Given the description of an element on the screen output the (x, y) to click on. 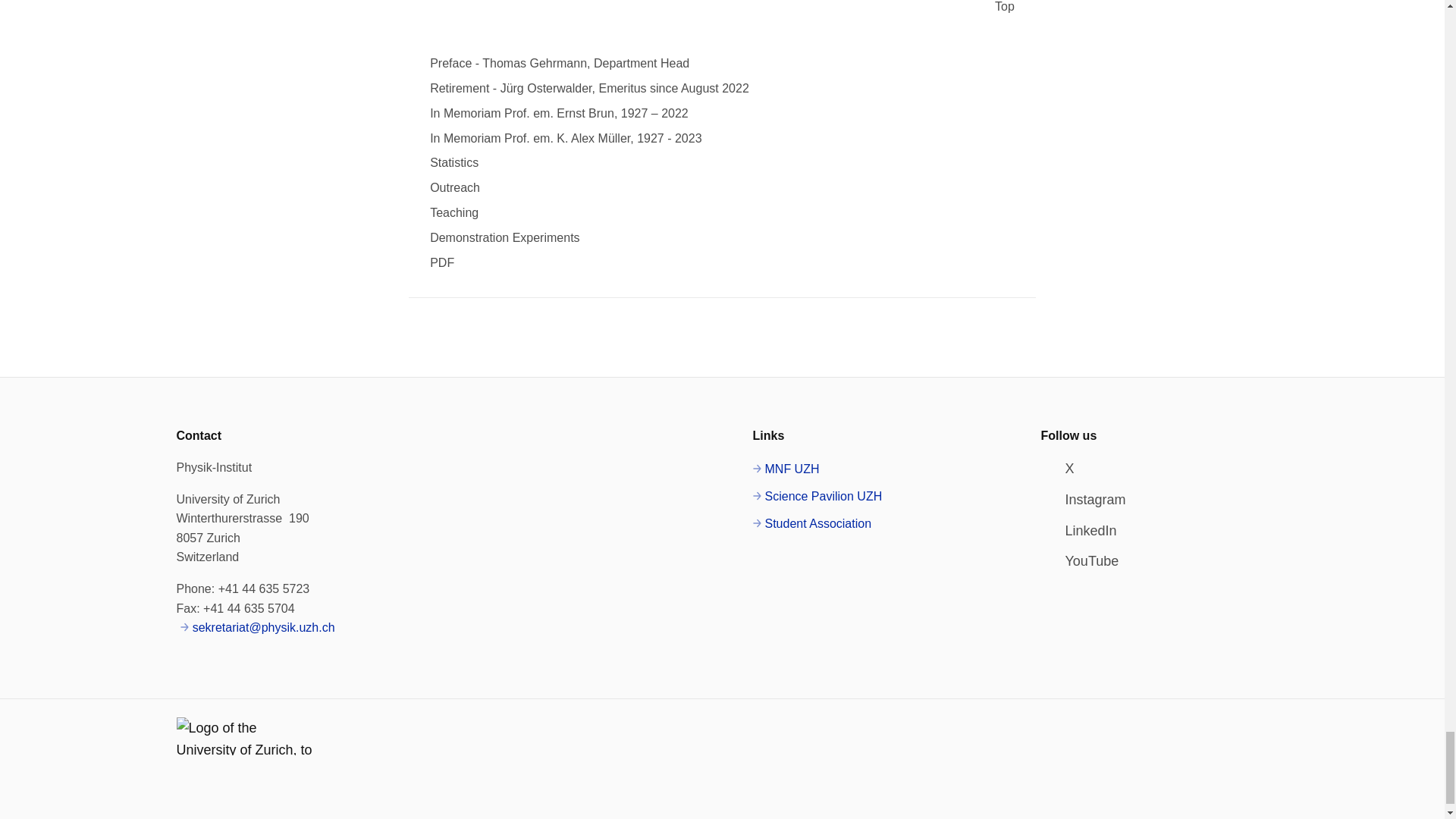
Student Association (811, 523)
MNF UZH (785, 469)
Science Pavilion UZH (817, 496)
